Given the description of an element on the screen output the (x, y) to click on. 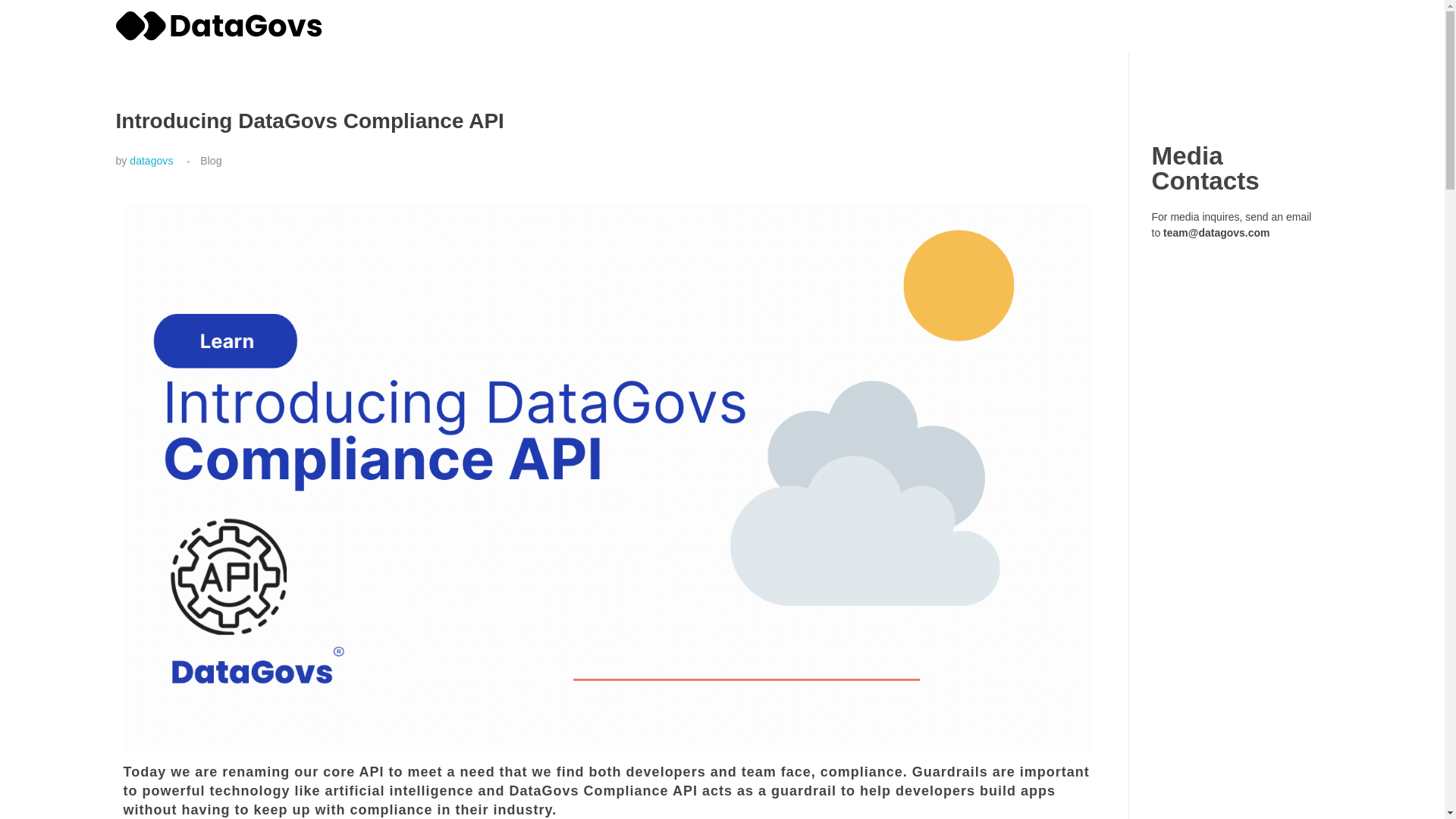
DataGovs (157, 49)
DataGovs (219, 25)
DataGovs (157, 49)
datagovs (151, 160)
Blog (210, 160)
View all posts by datagovs (151, 160)
View all posts in Blog (210, 160)
